Given the description of an element on the screen output the (x, y) to click on. 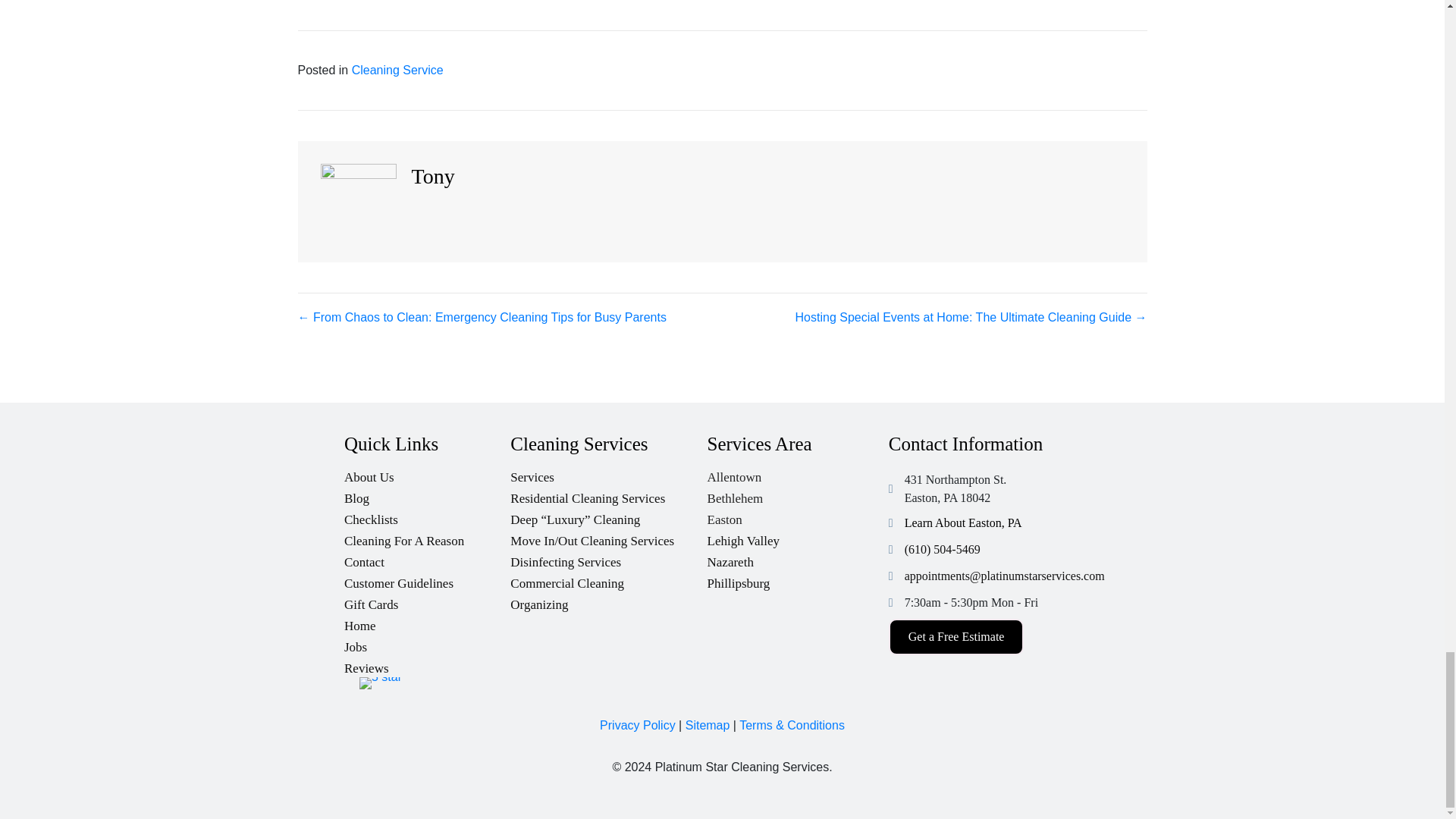
Blog (427, 494)
Cleaning Service (398, 69)
Checklists (427, 516)
Customer Guidelines (427, 579)
Cleaning For A Reason (427, 537)
Gift Cards (427, 600)
Contact (427, 557)
About Us (427, 473)
Home (427, 621)
